Given the description of an element on the screen output the (x, y) to click on. 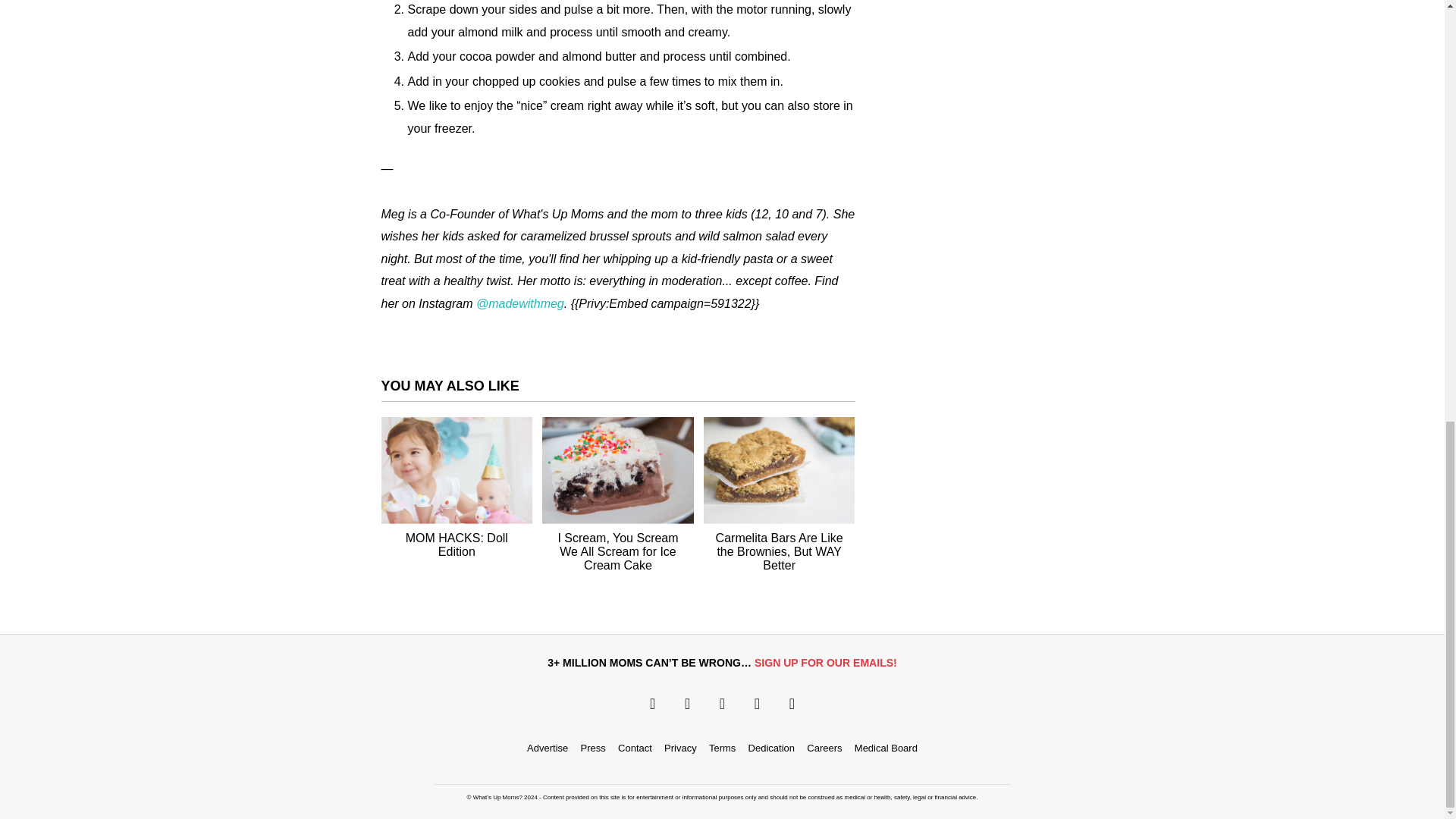
Carmelita Bars Are Like the Brownies, But WAY Better (779, 552)
I Scream, You Scream We All Scream for Ice Cream Cake (617, 552)
MOM HACKS: Doll Edition (456, 545)
